Given the description of an element on the screen output the (x, y) to click on. 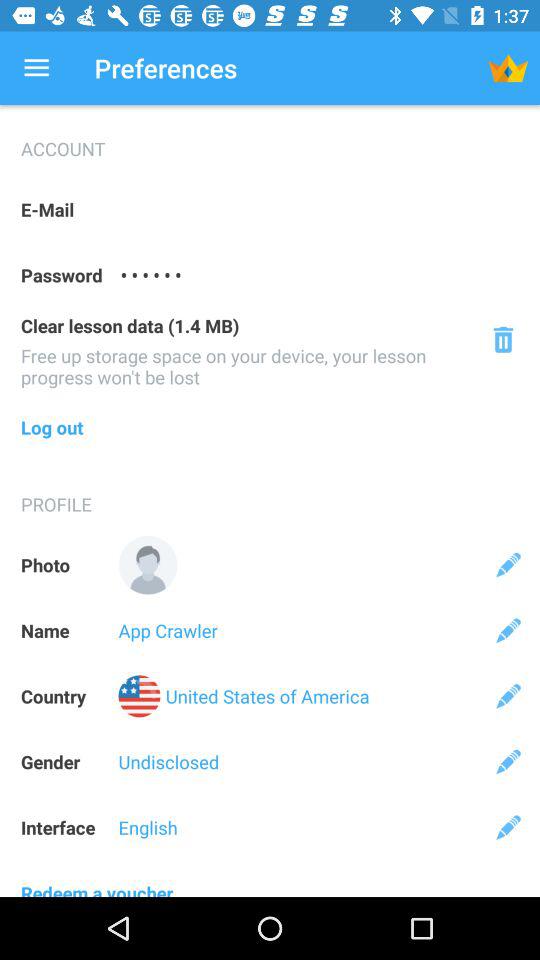
turn off icon at the top right corner (508, 67)
